Given the description of an element on the screen output the (x, y) to click on. 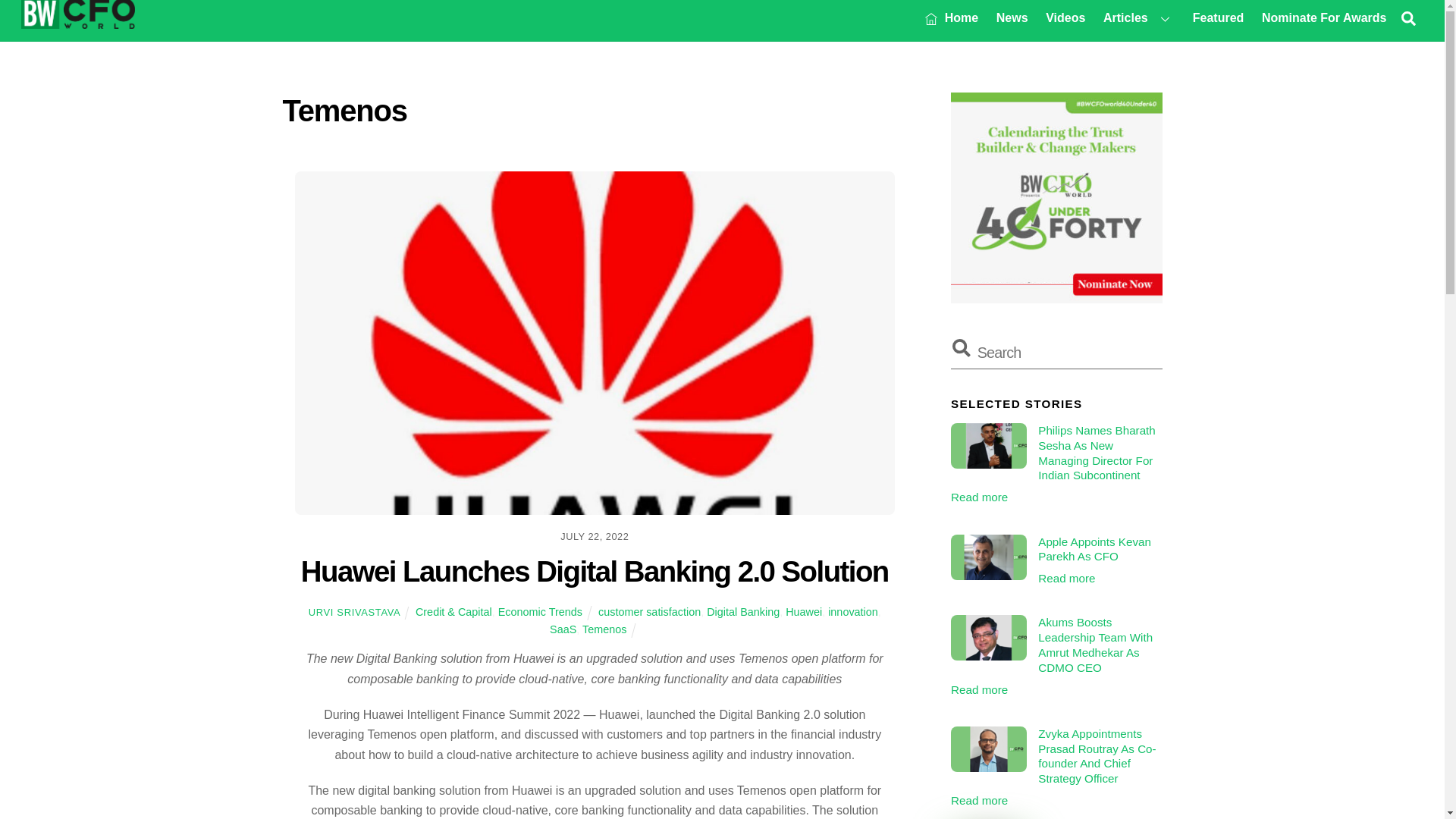
Home (951, 17)
Prasad Routray (988, 749)
Huawei Launches Digital Banking 2.0 Solution (594, 571)
Nominate For Awards (1323, 17)
Apple Appoints Kevan Parekh As CFO (988, 556)
Bharath Sesha (988, 445)
Economic Trends (539, 612)
News (1011, 17)
Huawei (804, 612)
